Given the description of an element on the screen output the (x, y) to click on. 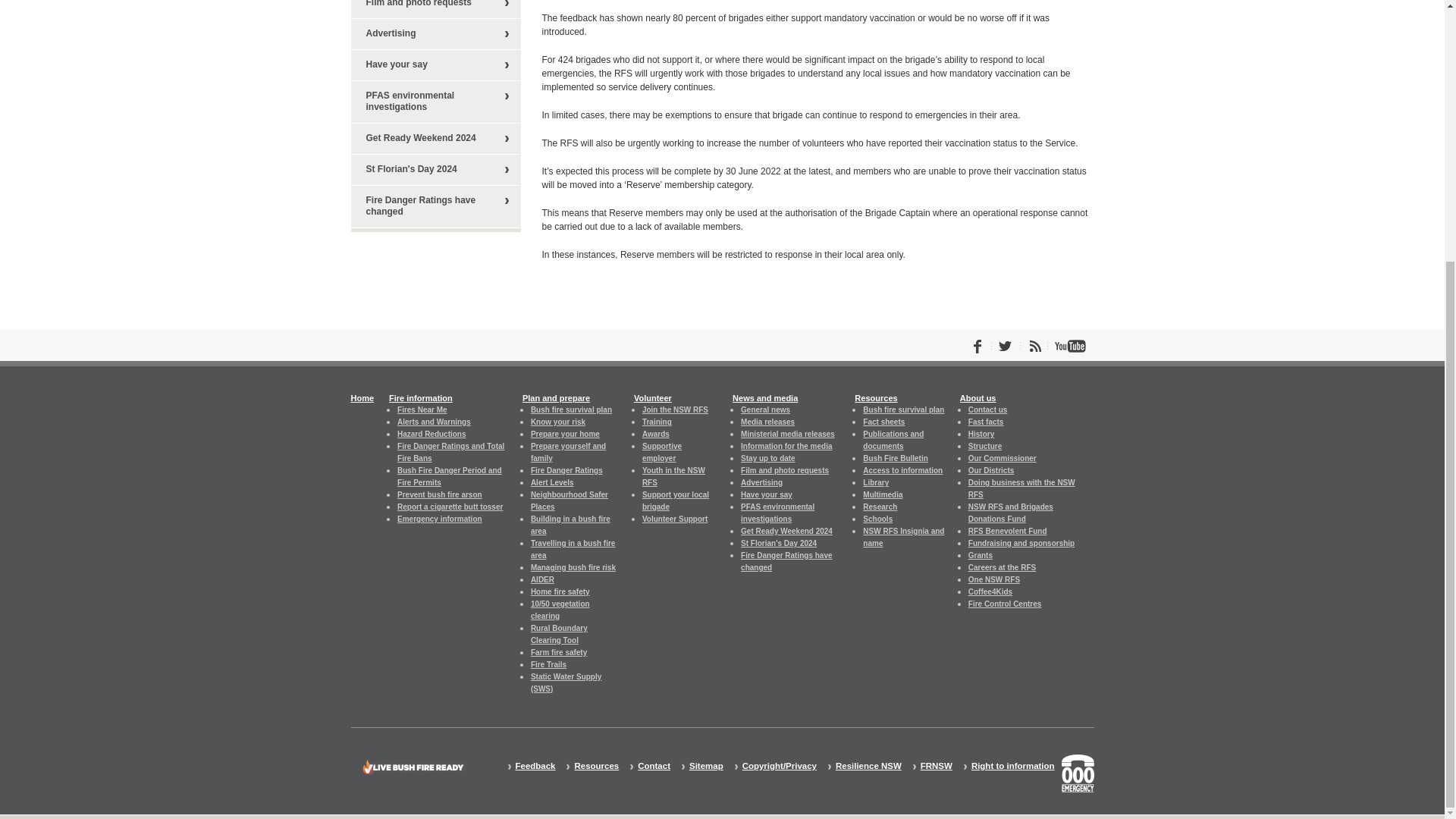
Rich Site Summary (1035, 345)
Youtube (1070, 345)
Twitter (1004, 345)
Facebook (977, 345)
